Given the description of an element on the screen output the (x, y) to click on. 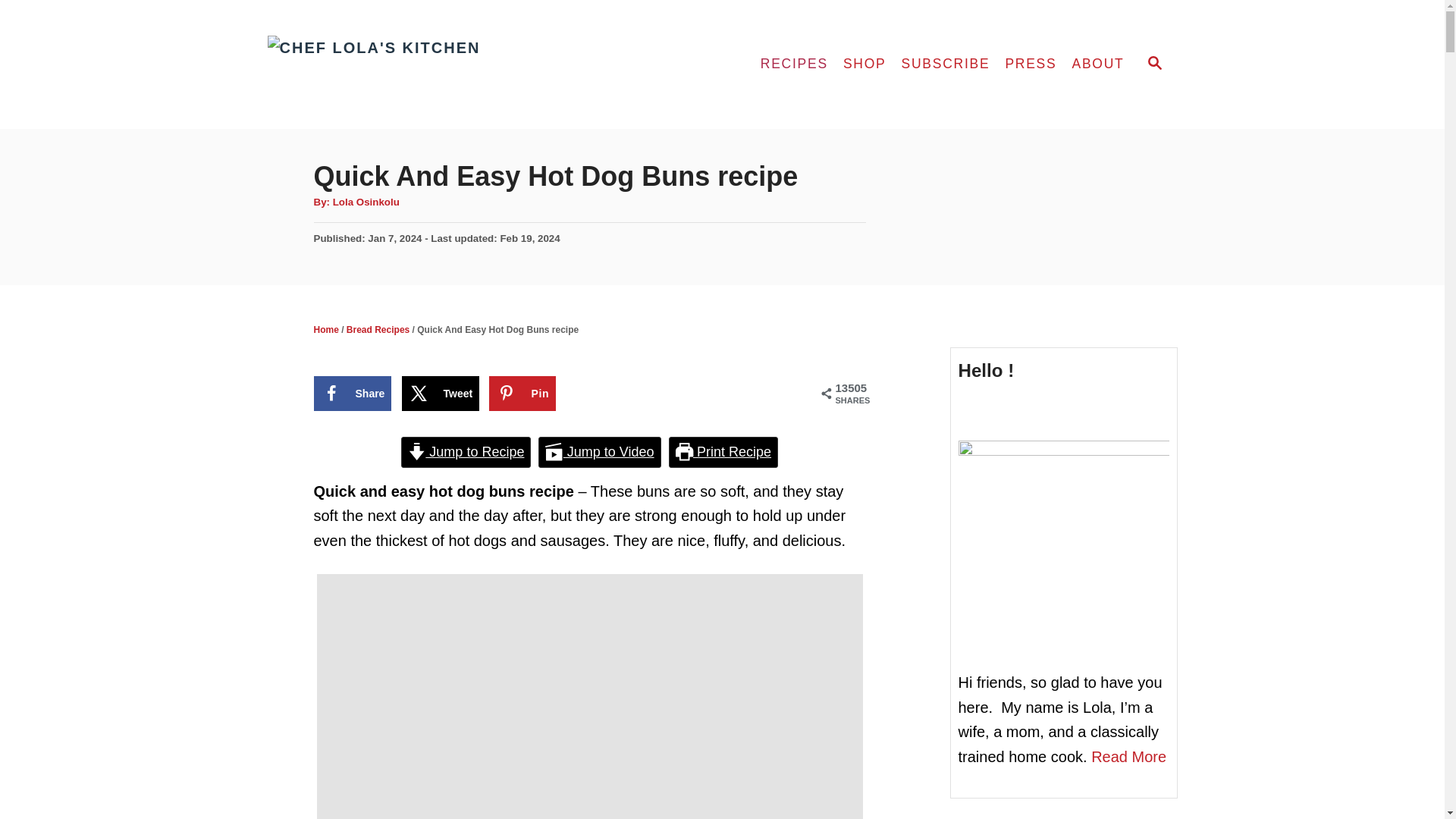
Tweet (440, 393)
Jump to Recipe (466, 451)
Jump to Video (599, 451)
Home (326, 329)
SUBSCRIBE (945, 64)
ABOUT (1097, 64)
RECIPES (793, 64)
Share on Facebook (352, 393)
Pin (522, 393)
PRESS (1030, 64)
Chef Lola's Kitchen (403, 64)
Share on X (440, 393)
Print Recipe (722, 451)
Bread Recipes (377, 329)
Lola Osinkolu (365, 202)
